Given the description of an element on the screen output the (x, y) to click on. 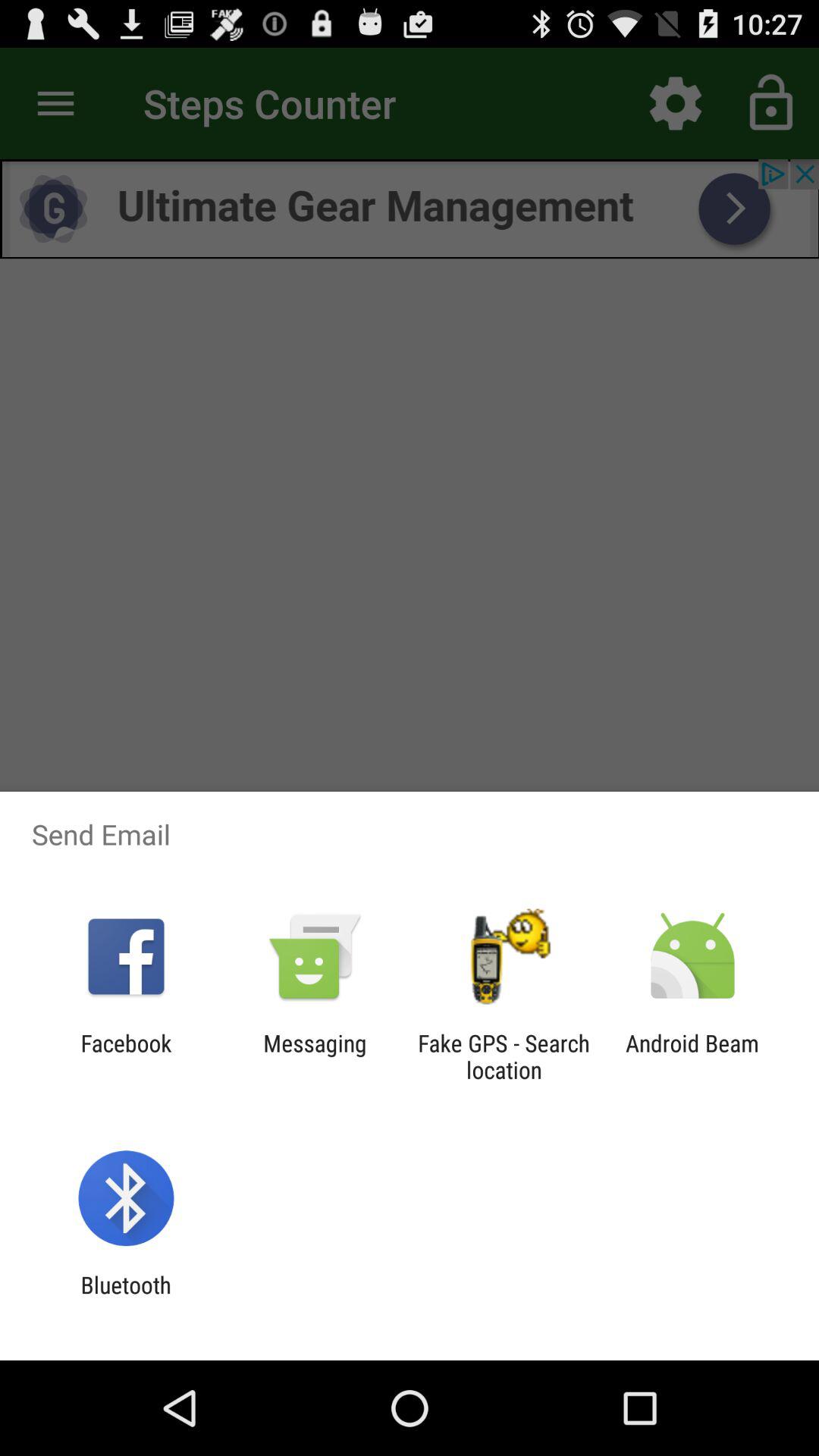
tap the item to the right of facebook icon (314, 1056)
